Given the description of an element on the screen output the (x, y) to click on. 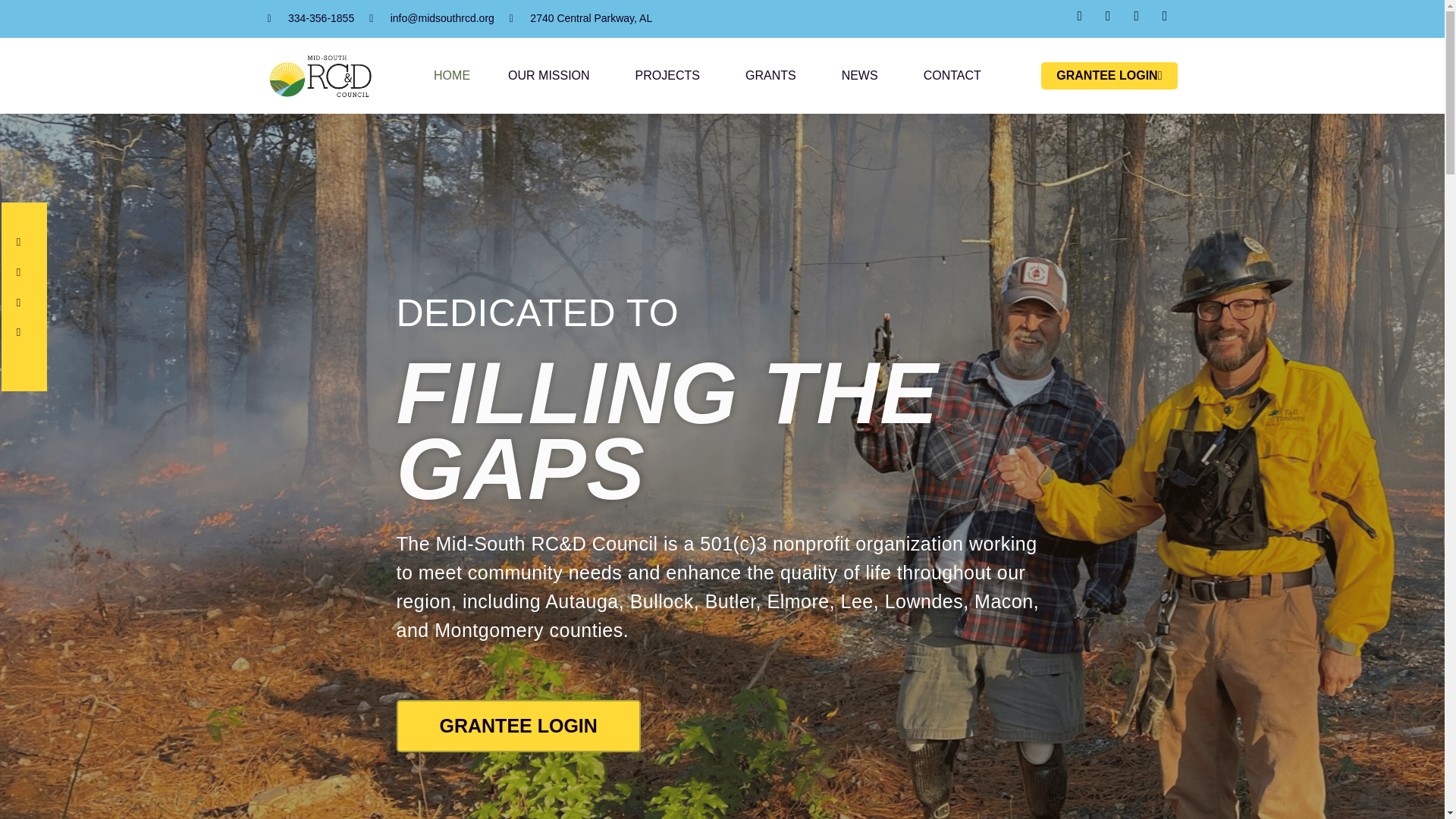
GRANTEE LOGIN (1108, 75)
NEWS (863, 75)
CONTACT (952, 75)
Facebook (23, 247)
HOME (451, 75)
OUR MISSION (552, 75)
GRANTS (774, 75)
PROJECTS (670, 75)
Instagram (23, 308)
Youtube (23, 277)
Linkedin (23, 337)
GRANTEE LOGIN (518, 726)
